Given the description of an element on the screen output the (x, y) to click on. 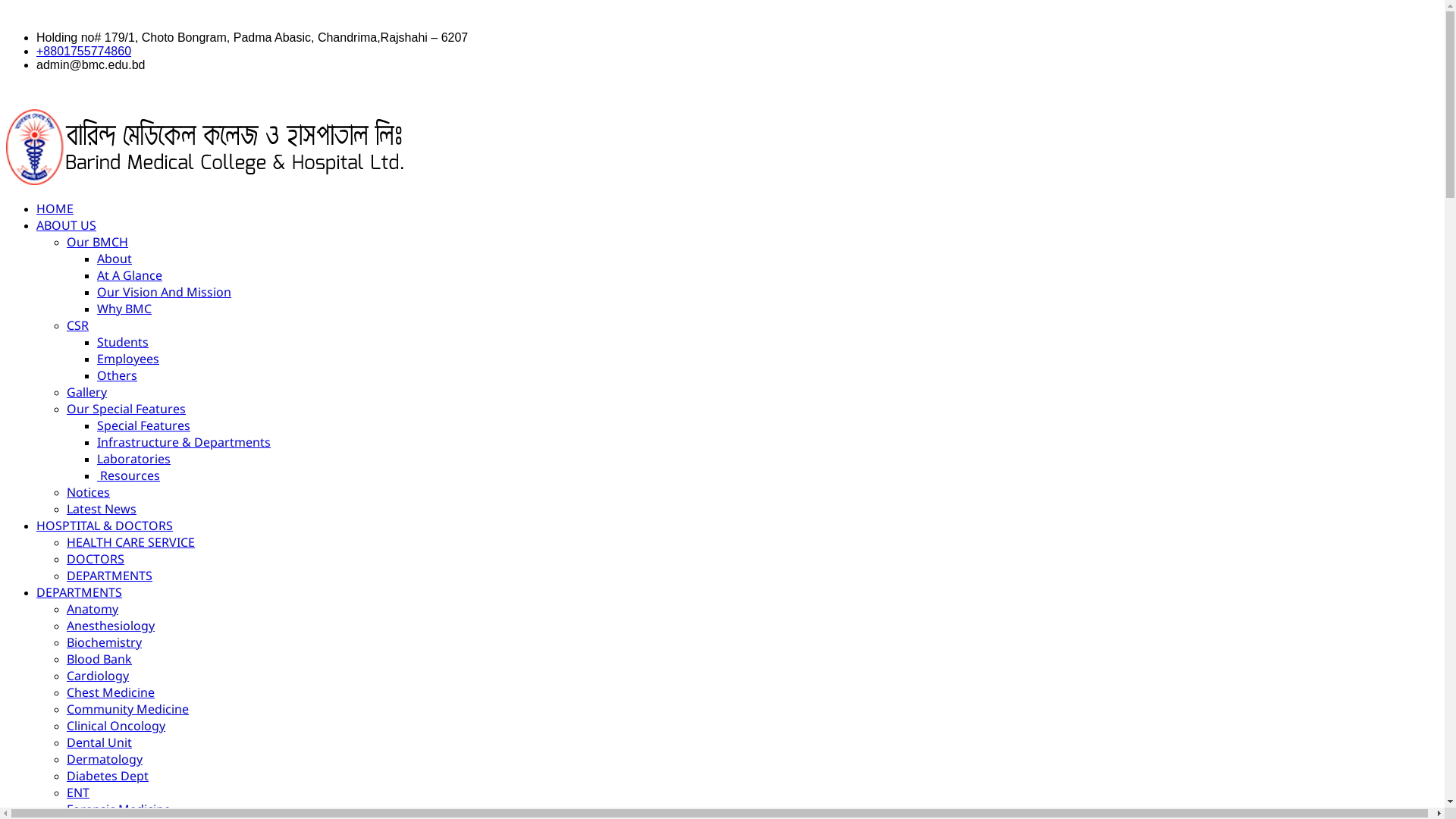
Forensic Medicine Element type: text (118, 808)
Latest News Element type: text (101, 508)
HOSPTITAL & DOCTORS Element type: text (104, 525)
DEPARTMENTS Element type: text (79, 591)
Employees Element type: text (128, 358)
HOME Element type: text (54, 208)
At A Glance Element type: text (129, 274)
Chest Medicine Element type: text (110, 692)
Our BMCH Element type: text (97, 241)
Clinical Oncology Element type: text (115, 725)
Anatomy Element type: text (92, 608)
DOCTORS Element type: text (95, 558)
Anesthesiology Element type: text (110, 625)
Dermatology Element type: text (104, 758)
About Element type: text (114, 258)
Infrastructure & Departments Element type: text (183, 441)
Community Medicine Element type: text (127, 708)
Biochemistry Element type: text (103, 641)
Cardiology Element type: text (97, 675)
 Resources Element type: text (128, 475)
Blood Bank Element type: text (98, 658)
ABOUT US Element type: text (66, 224)
Why BMC Element type: text (124, 308)
Students Element type: text (122, 341)
Gallery Element type: text (86, 391)
ENT Element type: text (77, 792)
Notices Element type: text (87, 491)
CSR Element type: text (77, 324)
DEPARTMENTS Element type: text (109, 575)
BMC Element type: hover (204, 180)
Our Special Features Element type: text (125, 408)
Our Vision And Mission Element type: text (164, 291)
Special Features Element type: text (143, 425)
+8801755774860 Element type: text (83, 50)
Diabetes Dept Element type: text (107, 775)
Others Element type: text (117, 375)
Laboratories Element type: text (133, 458)
HEALTH CARE SERVICE Element type: text (130, 541)
Dental Unit Element type: text (98, 742)
